Given the description of an element on the screen output the (x, y) to click on. 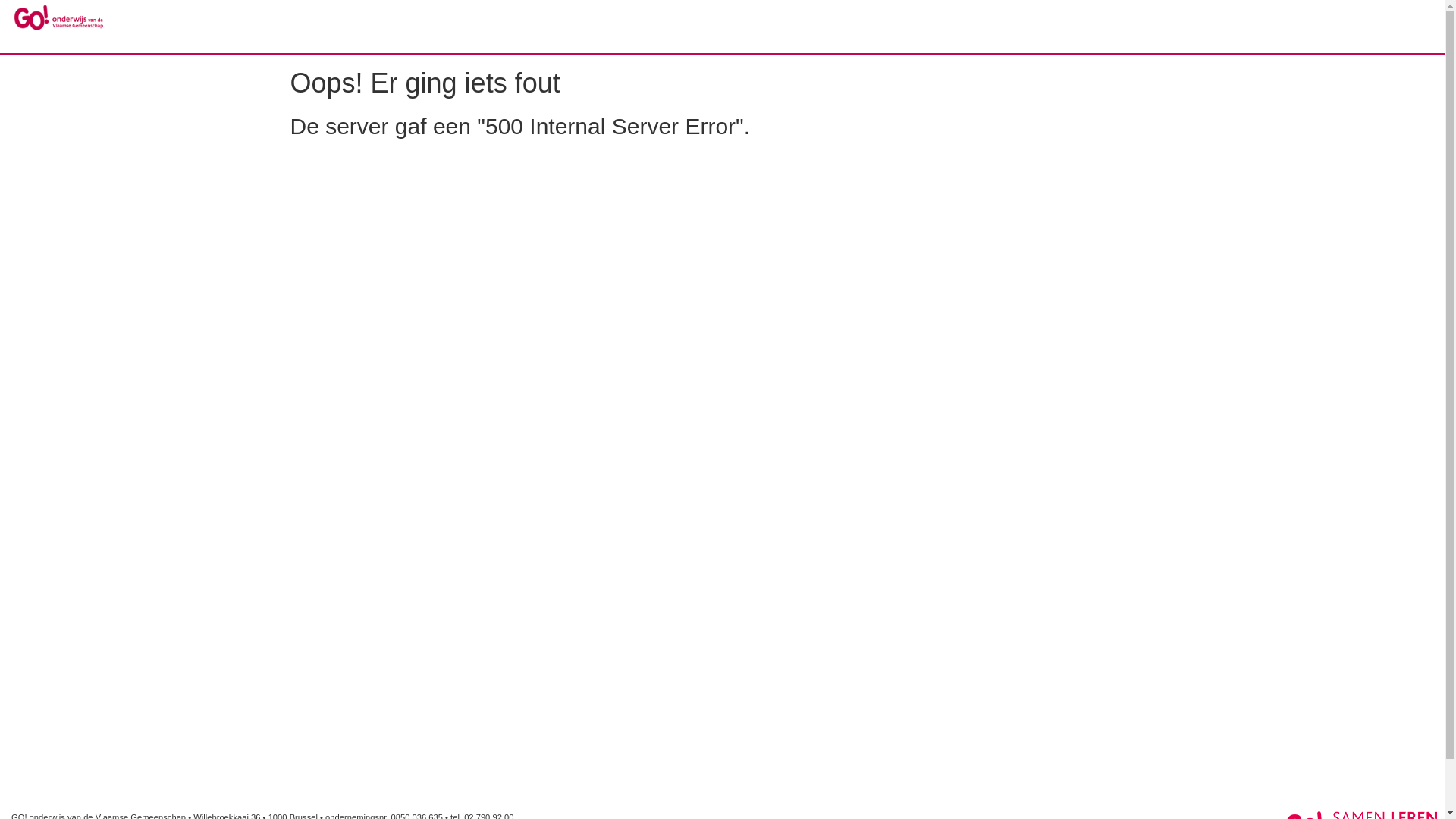
GO! Reglement Element type: hover (57, 17)
